Given the description of an element on the screen output the (x, y) to click on. 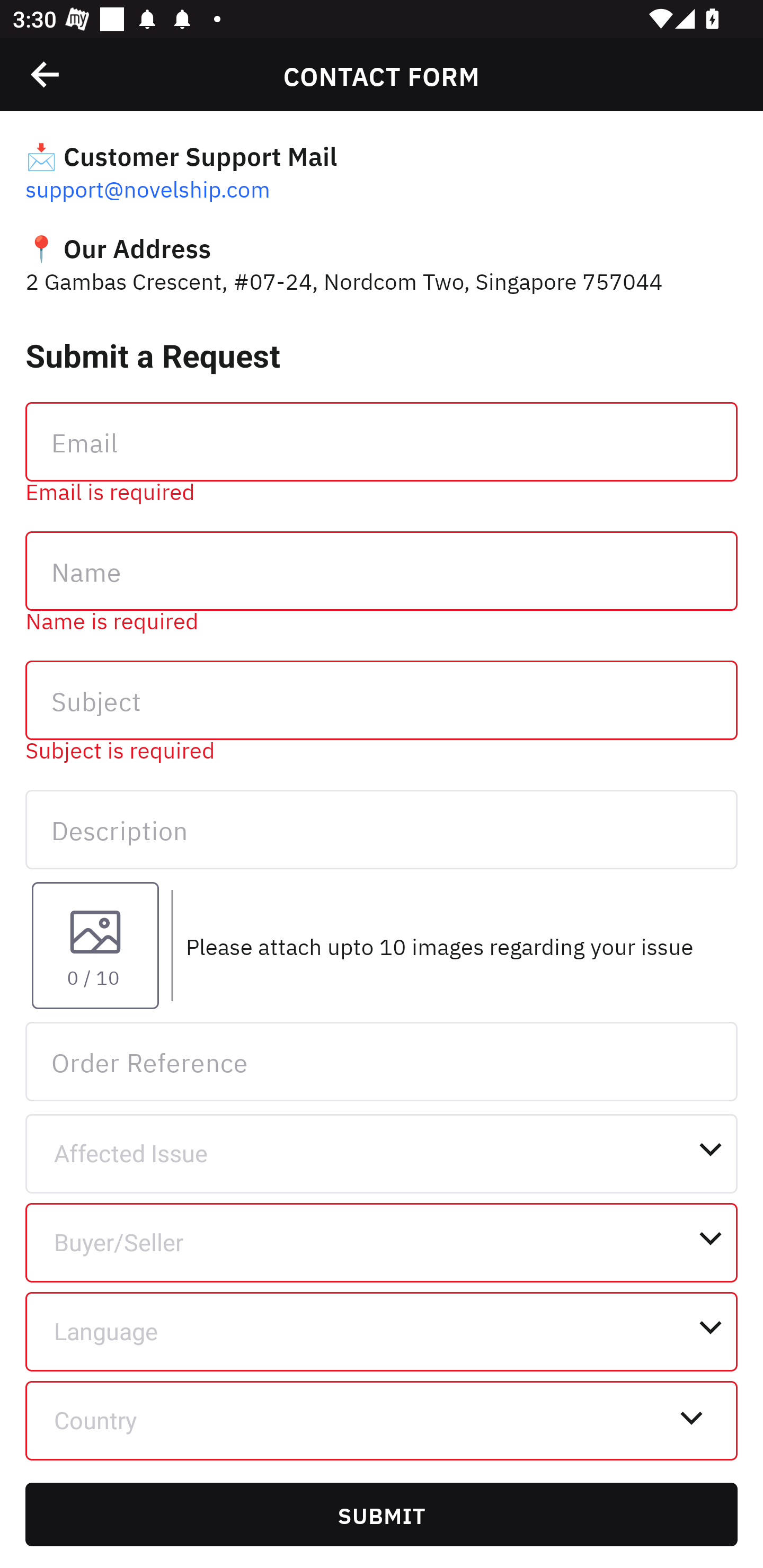
 (46, 74)
 (716, 74)
Email (381, 441)
Name (381, 571)
Subject (381, 700)
Description (381, 829)
 0 / 10 (95, 945)
Order Reference (381, 1061)
Affected Issue  (381, 1152)
Buyer/Seller  (381, 1242)
Language  (381, 1331)
Country  (381, 1420)
SUBMIT (381, 1514)
